Given the description of an element on the screen output the (x, y) to click on. 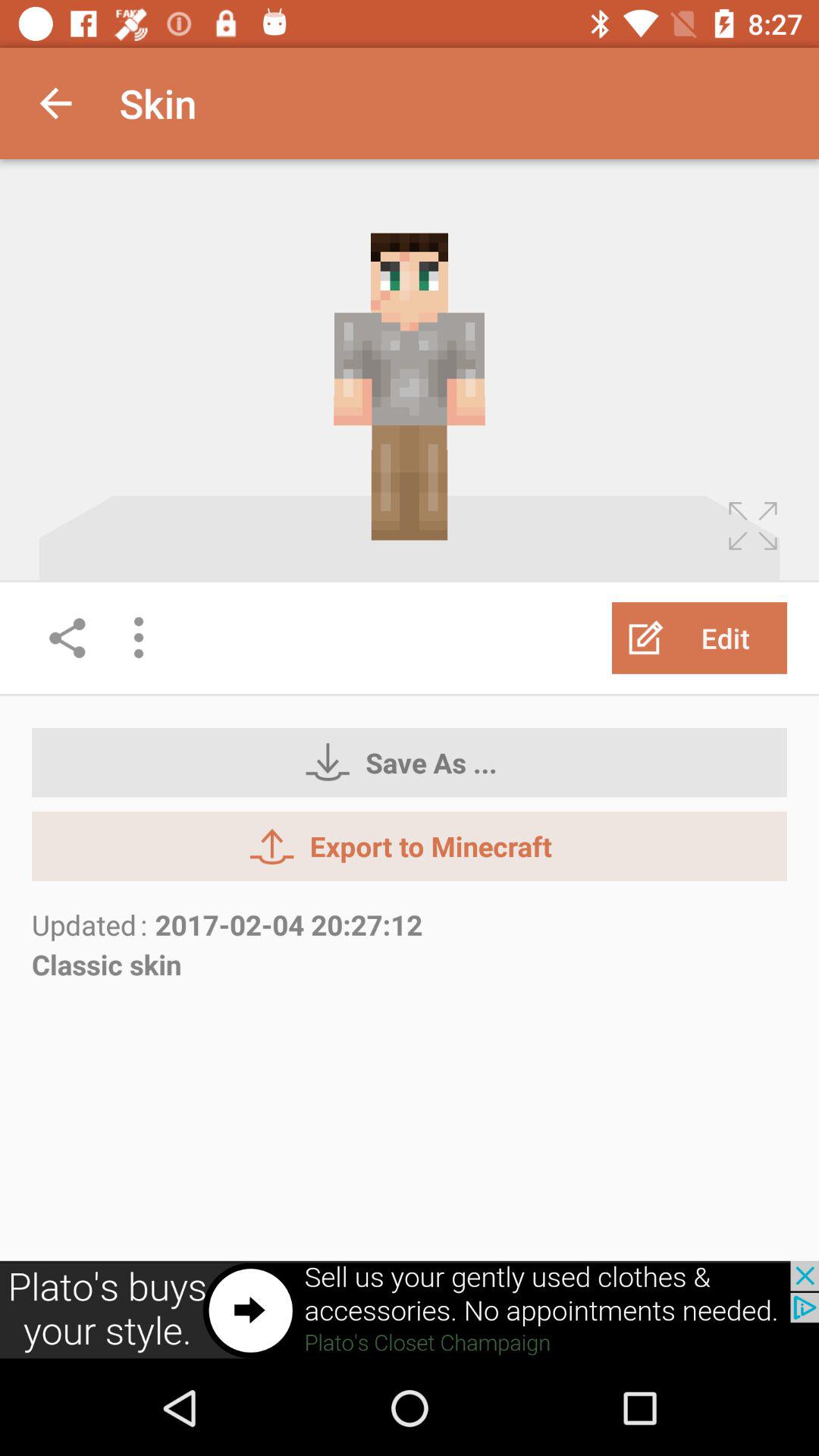
open advertisement (409, 1310)
